Given the description of an element on the screen output the (x, y) to click on. 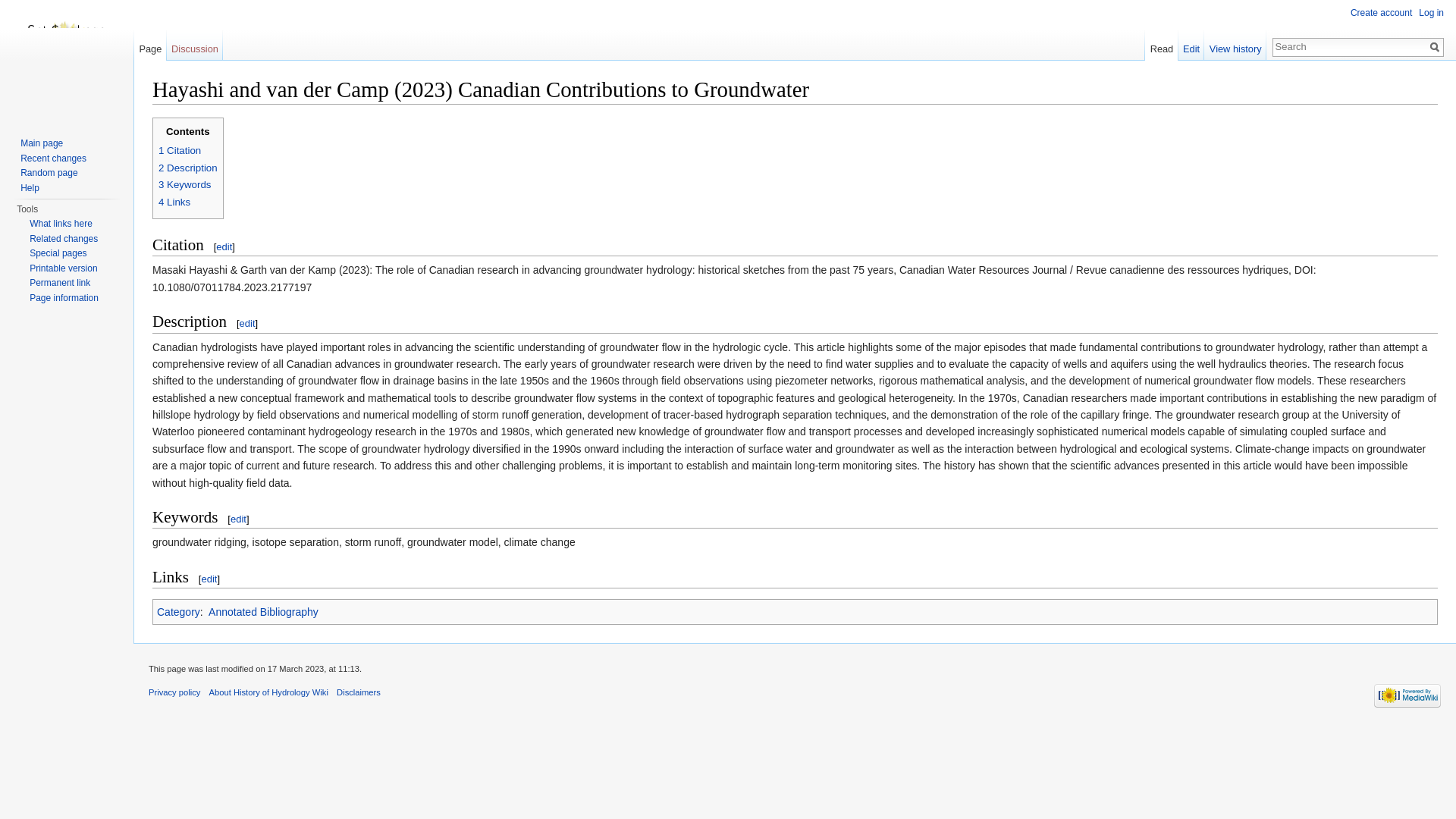
View history (1235, 45)
Edit section: Description (248, 323)
edit (208, 578)
Recent changes (52, 158)
Category:Annotated Bibliography (263, 612)
Related changes (63, 238)
Annotated Bibliography (263, 612)
Edit section: Citation (223, 246)
Edit section: Links (208, 578)
Main page (41, 143)
